Given the description of an element on the screen output the (x, y) to click on. 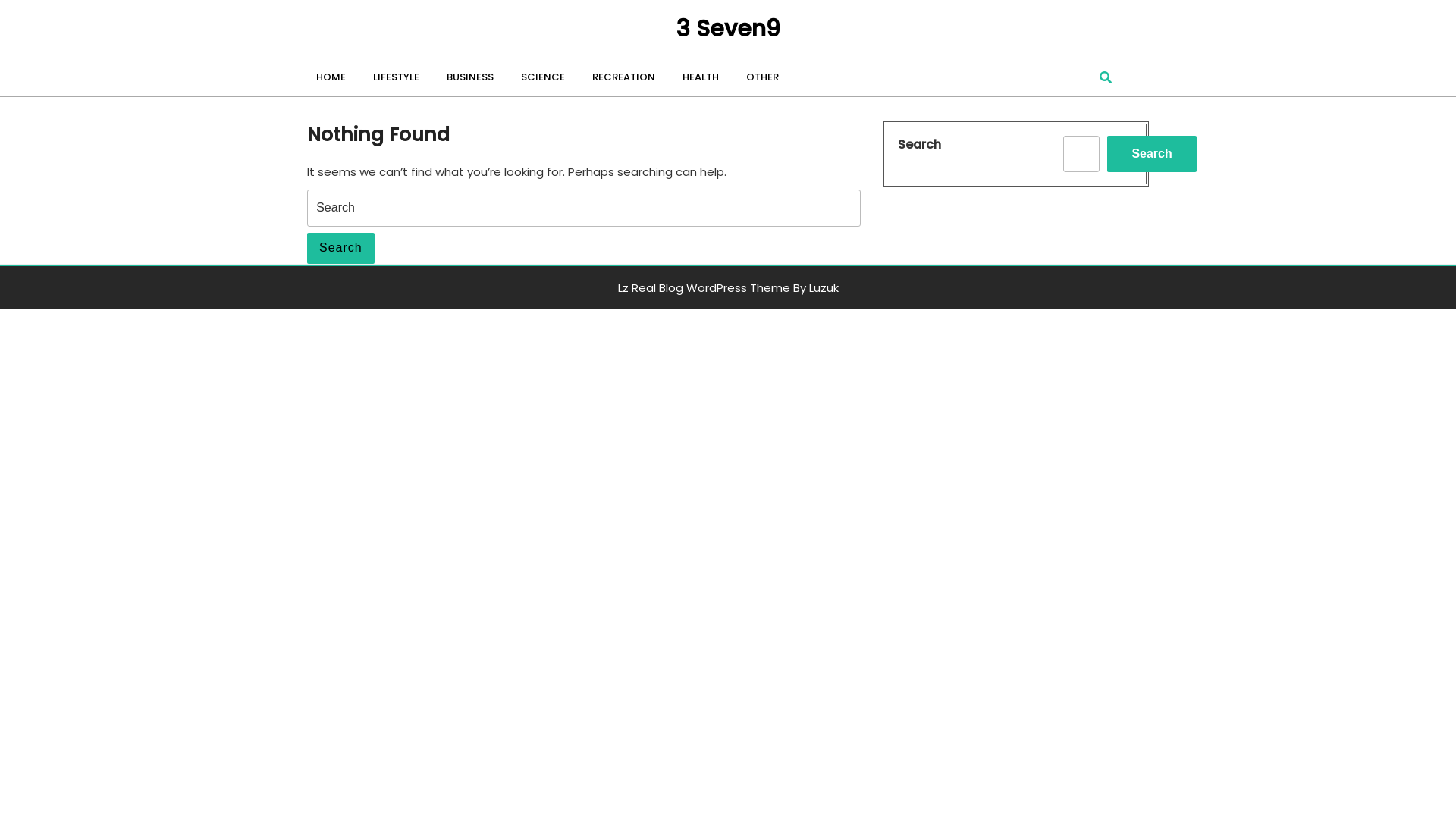
Search Element type: text (1151, 152)
Search Element type: text (340, 248)
LIFESTYLE Element type: text (399, 77)
HOME Element type: text (333, 77)
Lz Real Blog WordPress Theme By Luzuk Element type: text (727, 287)
HEALTH Element type: text (703, 77)
SCIENCE Element type: text (545, 77)
BUSINESS Element type: text (472, 77)
RECREATION Element type: text (626, 77)
3 Seven9 Element type: text (728, 28)
OTHER Element type: text (765, 77)
